Given the description of an element on the screen output the (x, y) to click on. 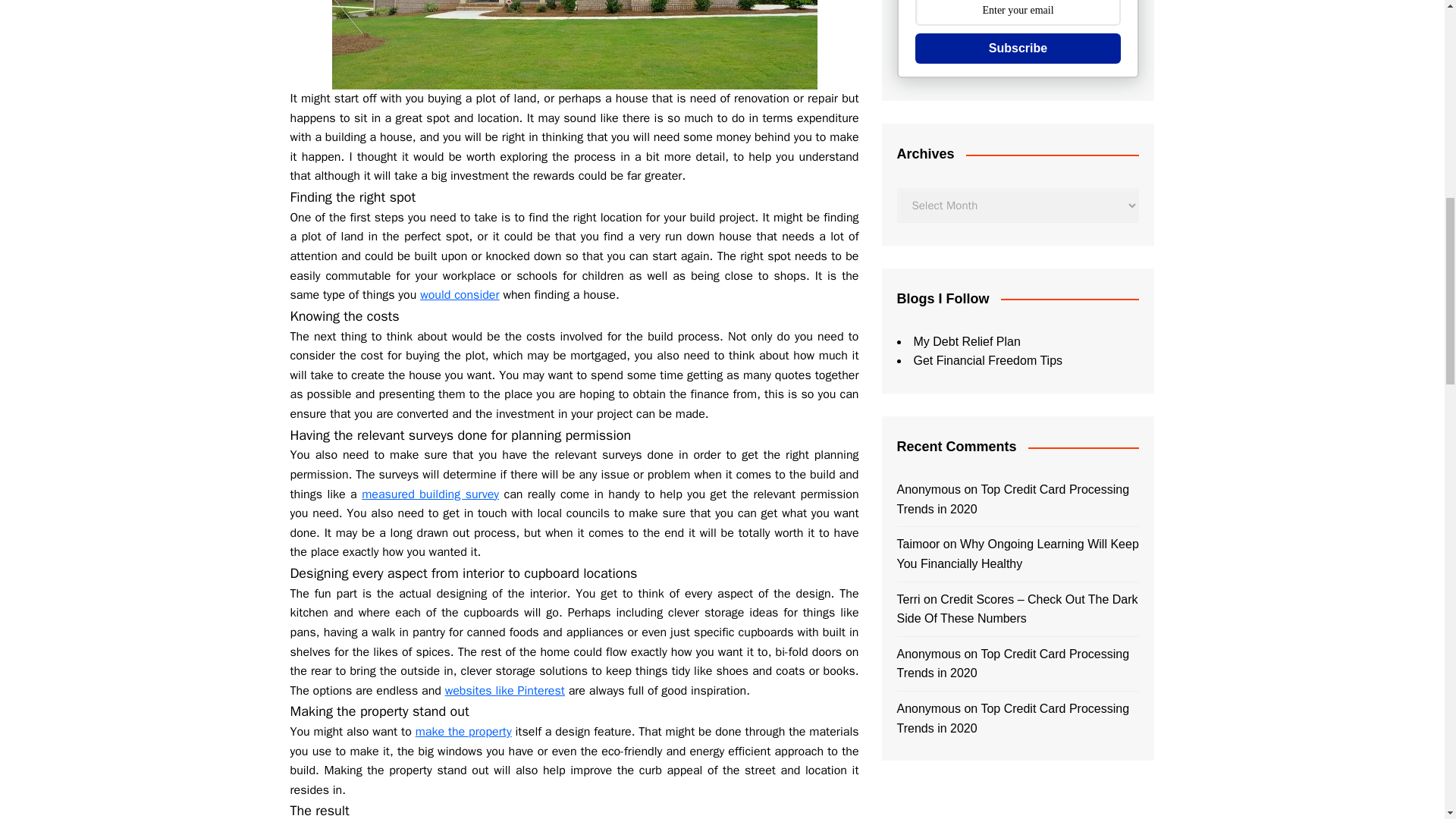
websites like Pinterest (504, 690)
would consider (459, 294)
make the property (463, 731)
measured building survey (430, 494)
